Given the description of an element on the screen output the (x, y) to click on. 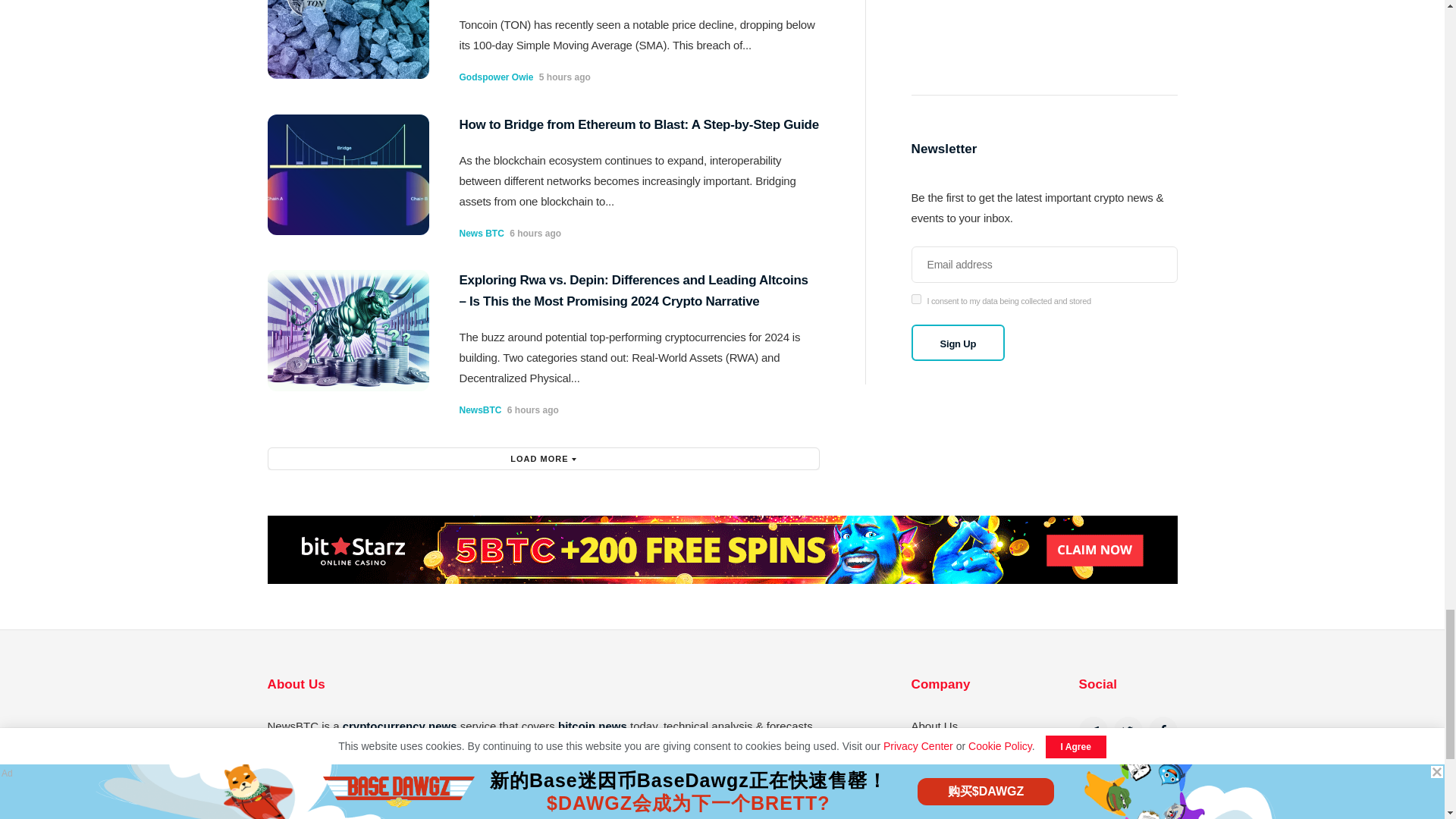
Sign Up (958, 342)
I consent to my data being collected and stored (916, 298)
